Given the description of an element on the screen output the (x, y) to click on. 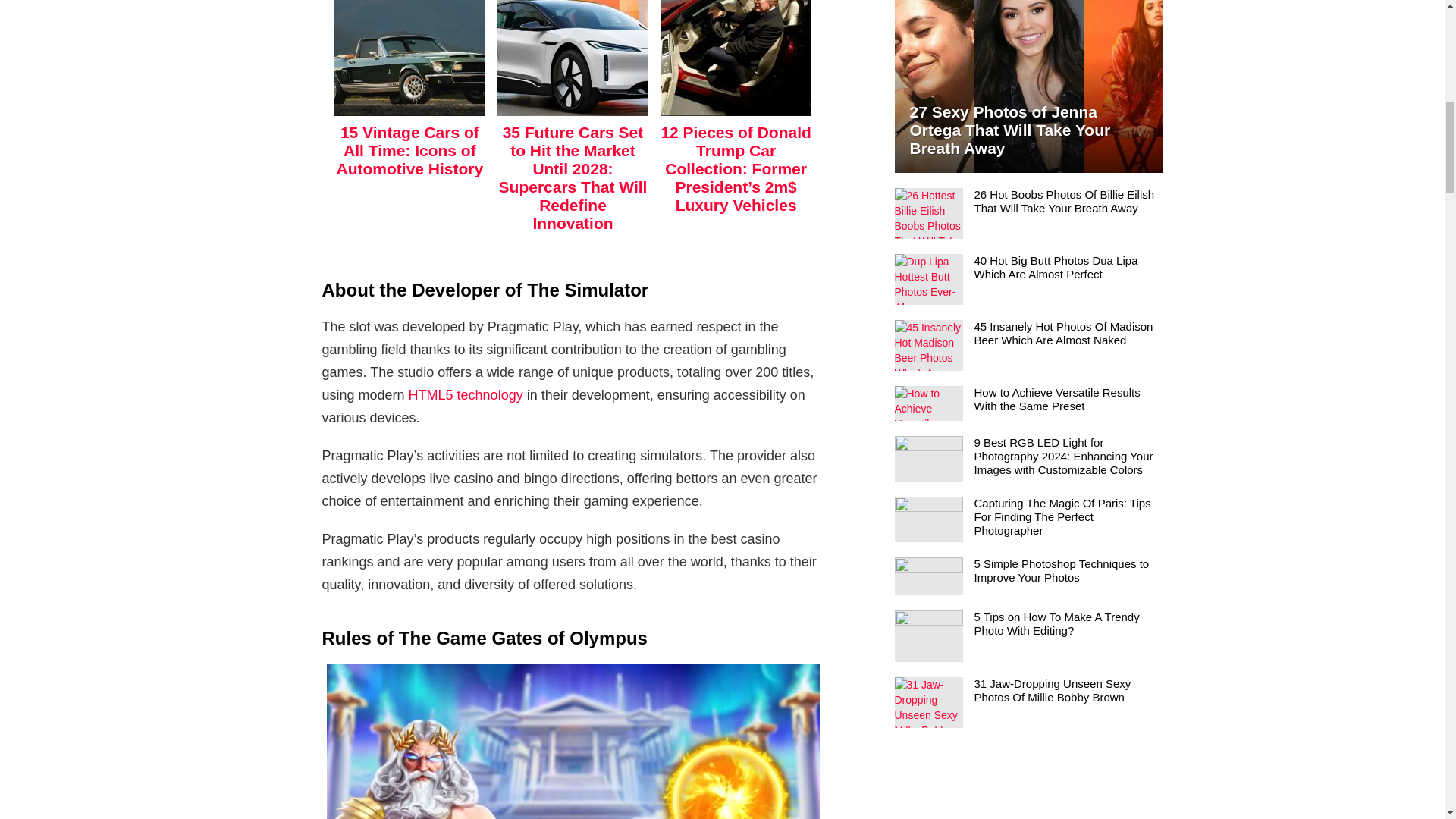
15 Vintage Cars of All Time: Icons of Automotive History (409, 150)
HTML5 technology (465, 394)
